Given the description of an element on the screen output the (x, y) to click on. 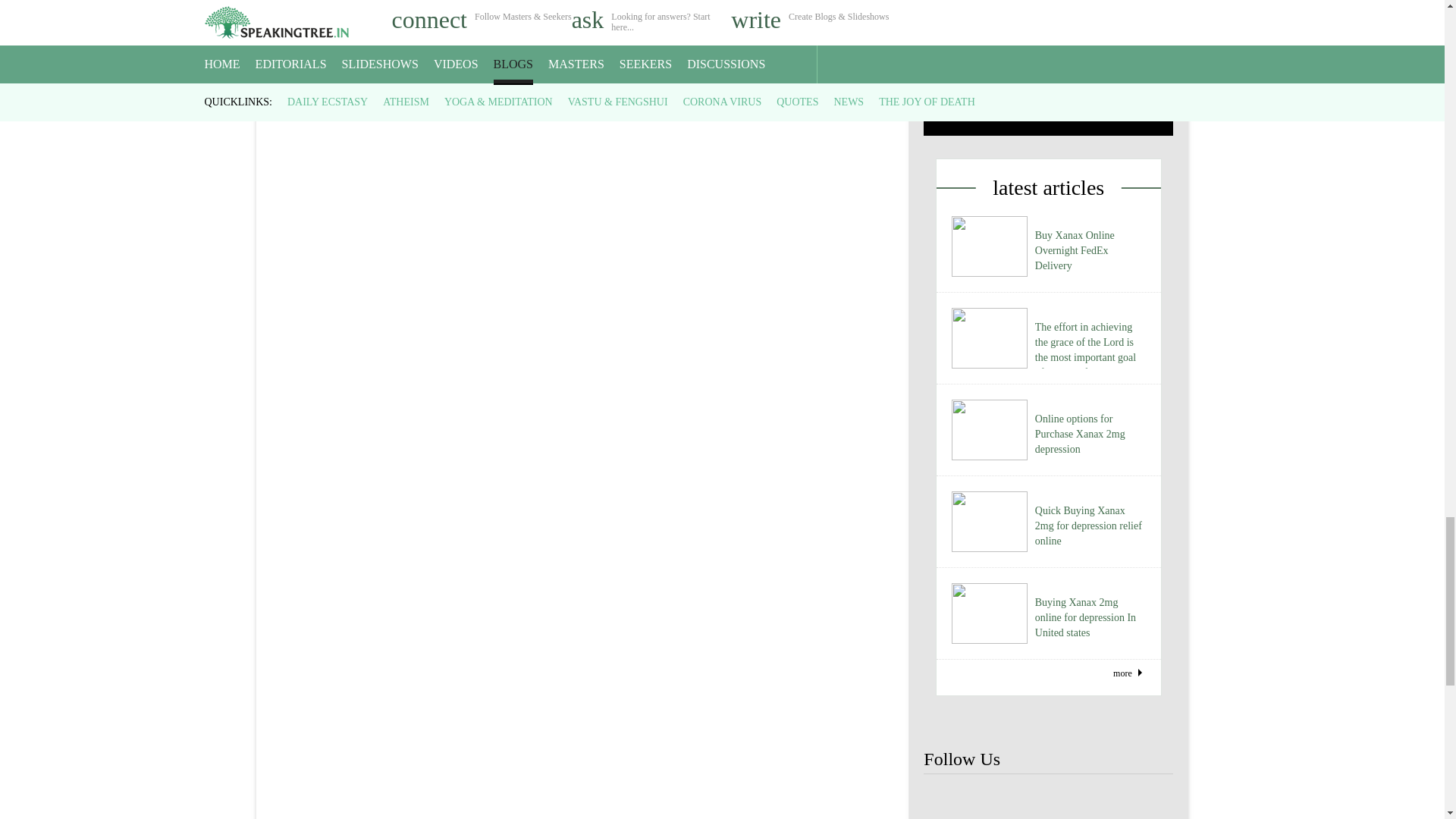
Speaking Tree FaceBook (1099, 800)
Speaking Tree FaceBook (998, 800)
Speaking Tree FaceBook (948, 800)
Speaking Tree FaceBook (1147, 800)
Speaking Tree FaceBook (1048, 800)
